Given the description of an element on the screen output the (x, y) to click on. 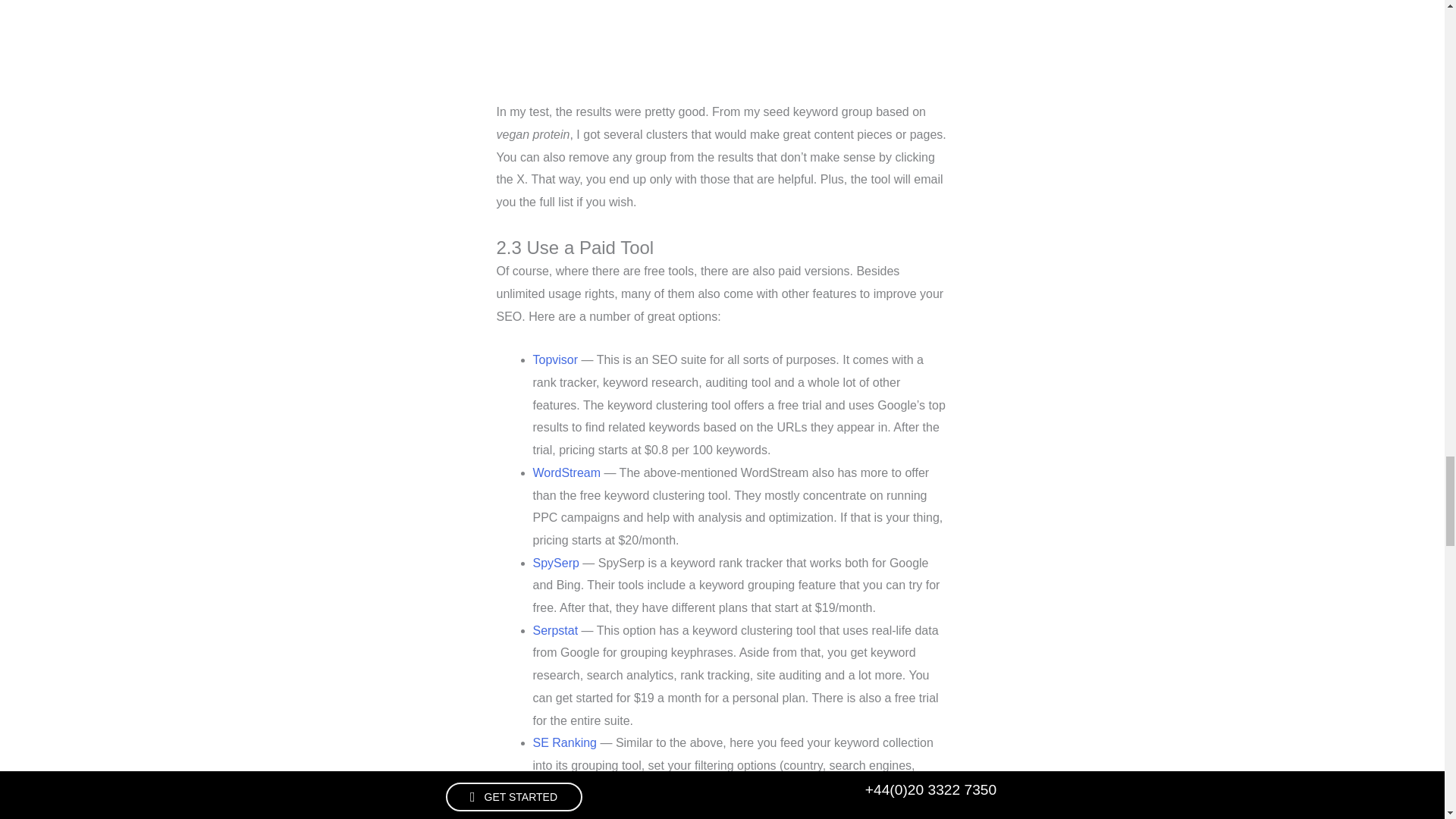
WordStream (565, 472)
SpySerp (555, 562)
Serpstat (555, 630)
Topvisor (555, 359)
SE Ranking (564, 742)
